Given the description of an element on the screen output the (x, y) to click on. 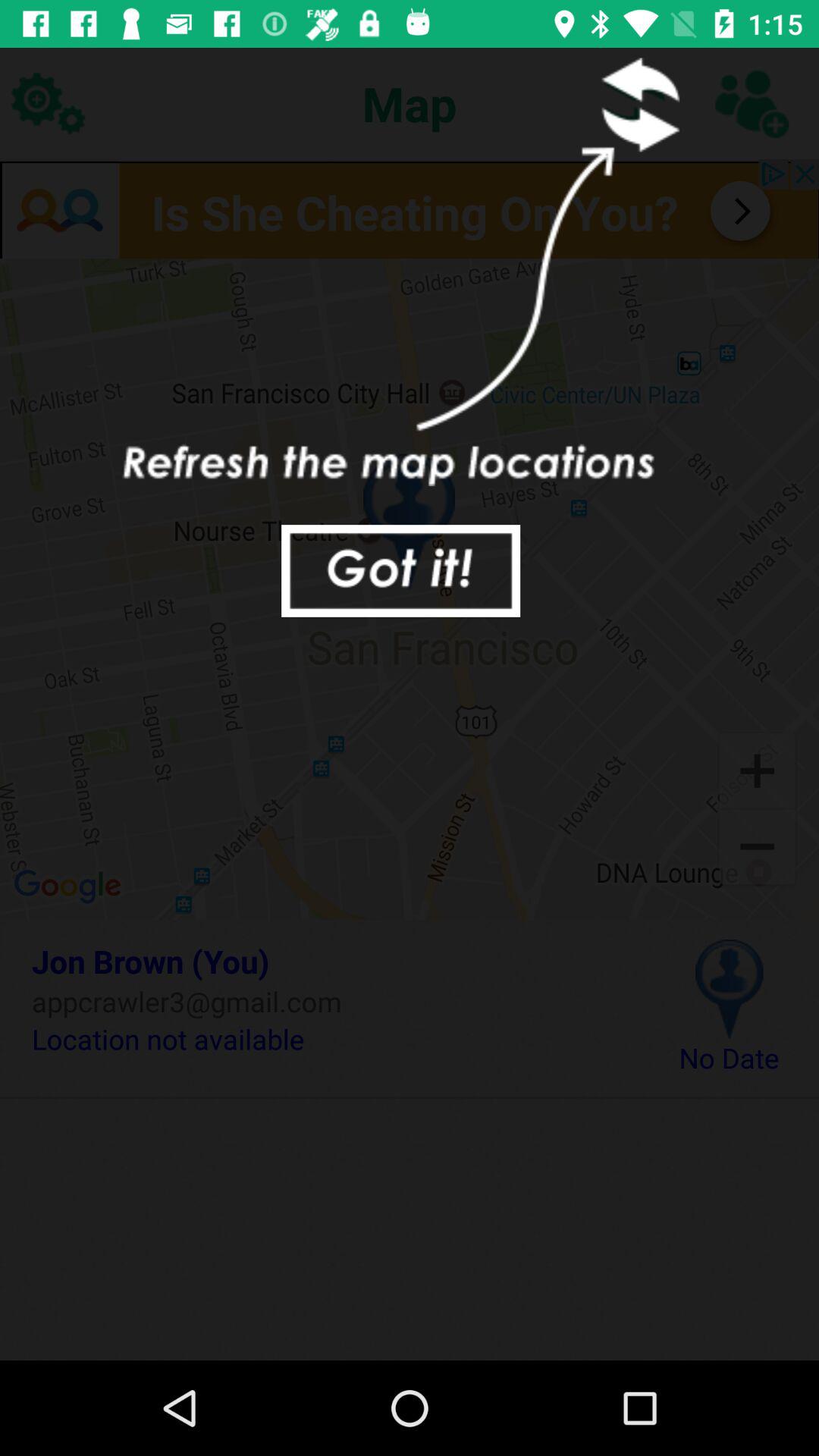
link to advert (409, 208)
